Given the description of an element on the screen output the (x, y) to click on. 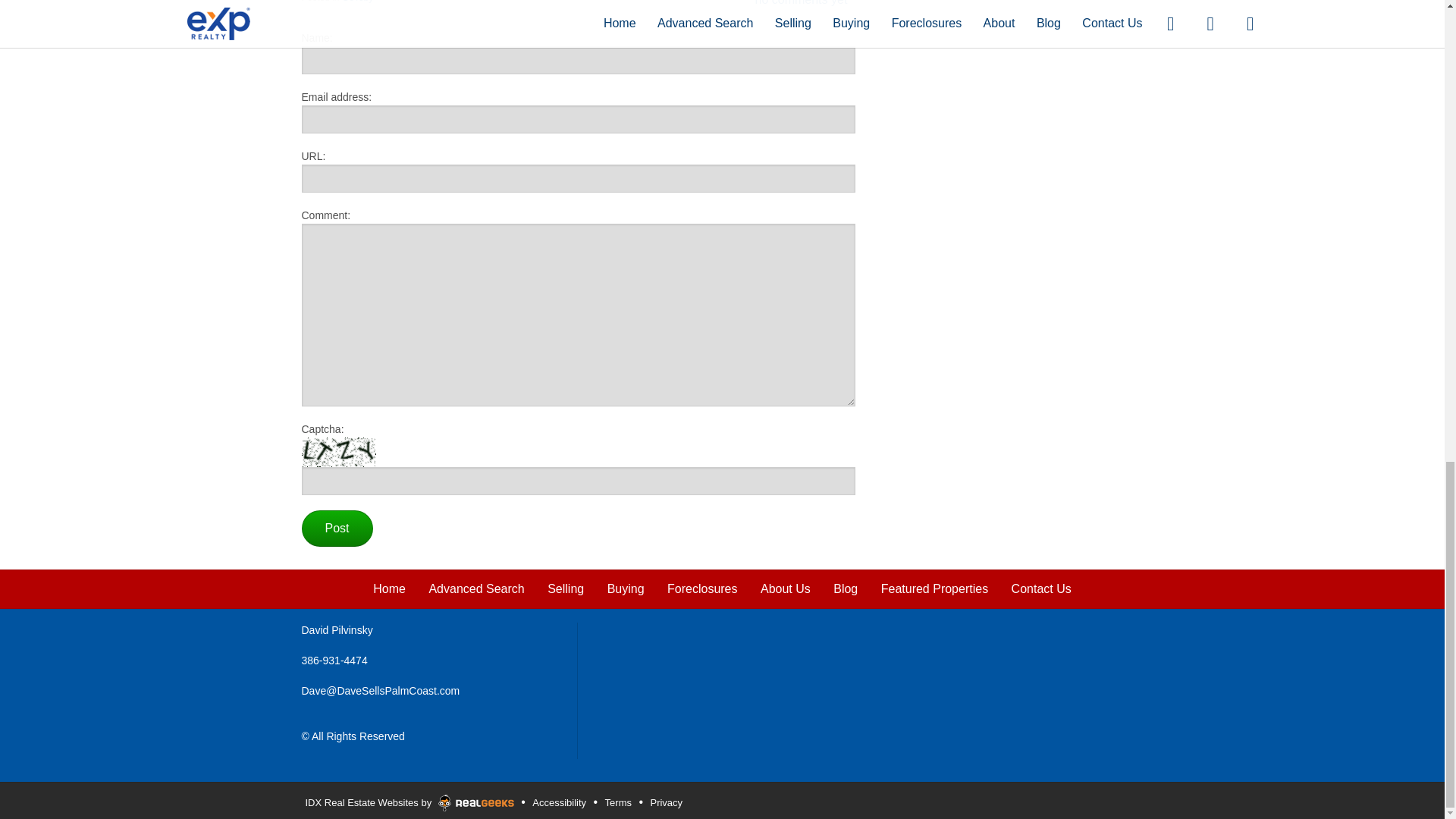
Post (336, 528)
GoToby (357, 1)
Post (336, 528)
no comments yet (801, 2)
